Given the description of an element on the screen output the (x, y) to click on. 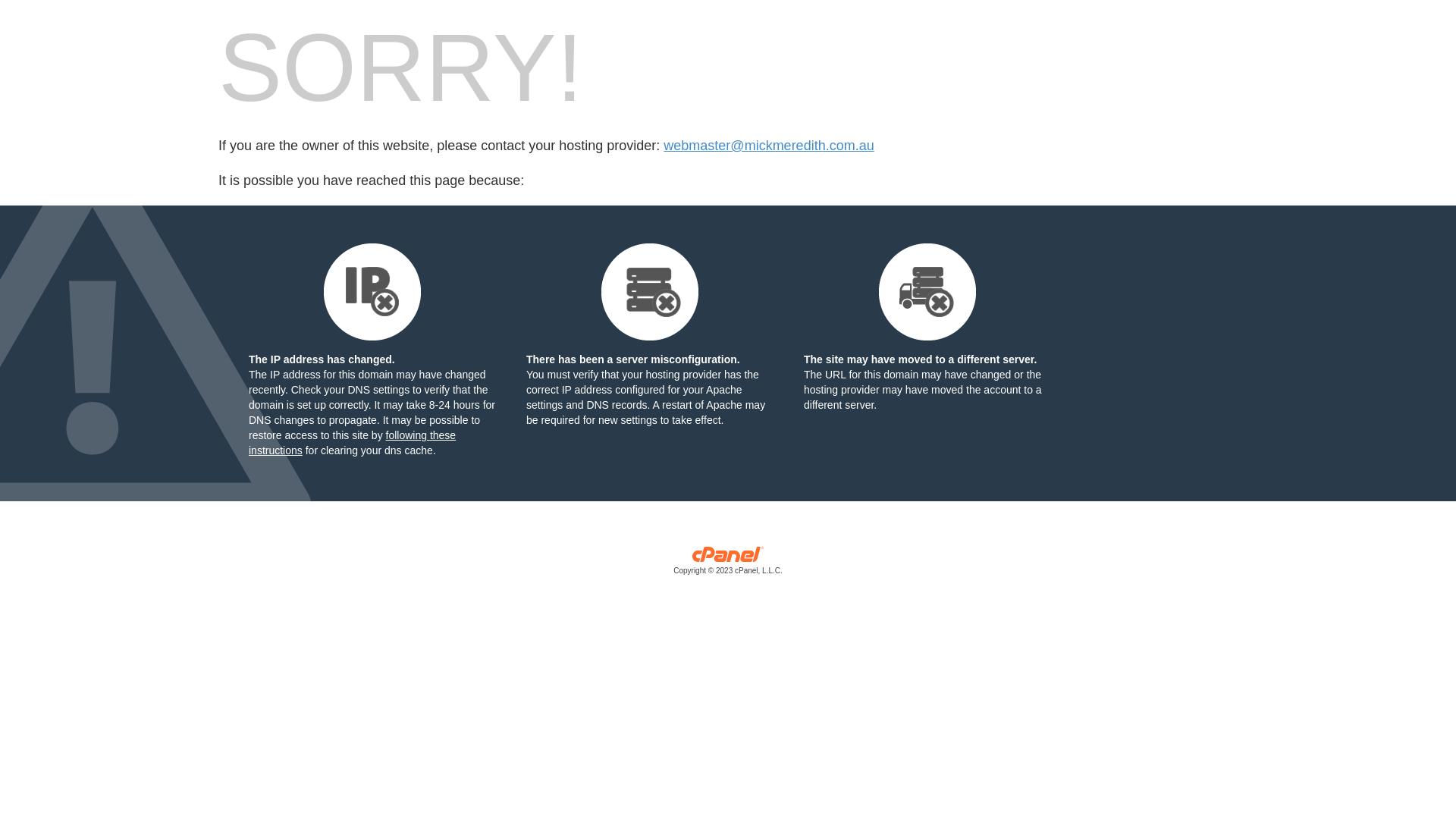
following these instructions Element type: text (351, 442)
webmaster@mickmeredith.com.au Element type: text (768, 145)
